Given the description of an element on the screen output the (x, y) to click on. 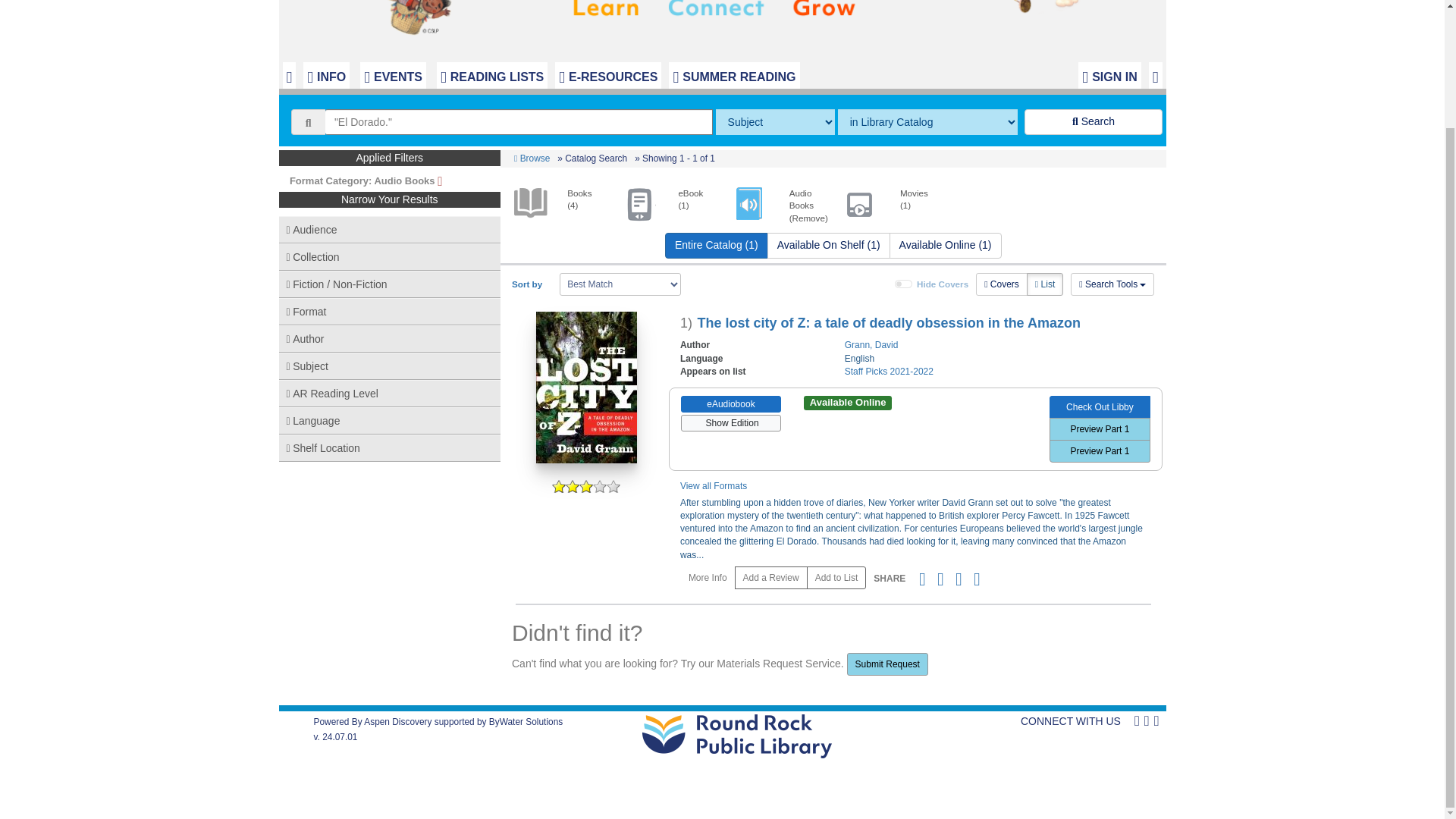
READING LISTS (491, 75)
 Search (1093, 121)
INFO (325, 75)
Library Home Page (725, 25)
on (903, 284)
Browse (531, 158)
EVENTS (392, 75)
"El Dorado." (518, 121)
Login (1109, 75)
SUMMER READING (733, 75)
SIGN IN (1109, 75)
E-RESOURCES (607, 75)
